Given the description of an element on the screen output the (x, y) to click on. 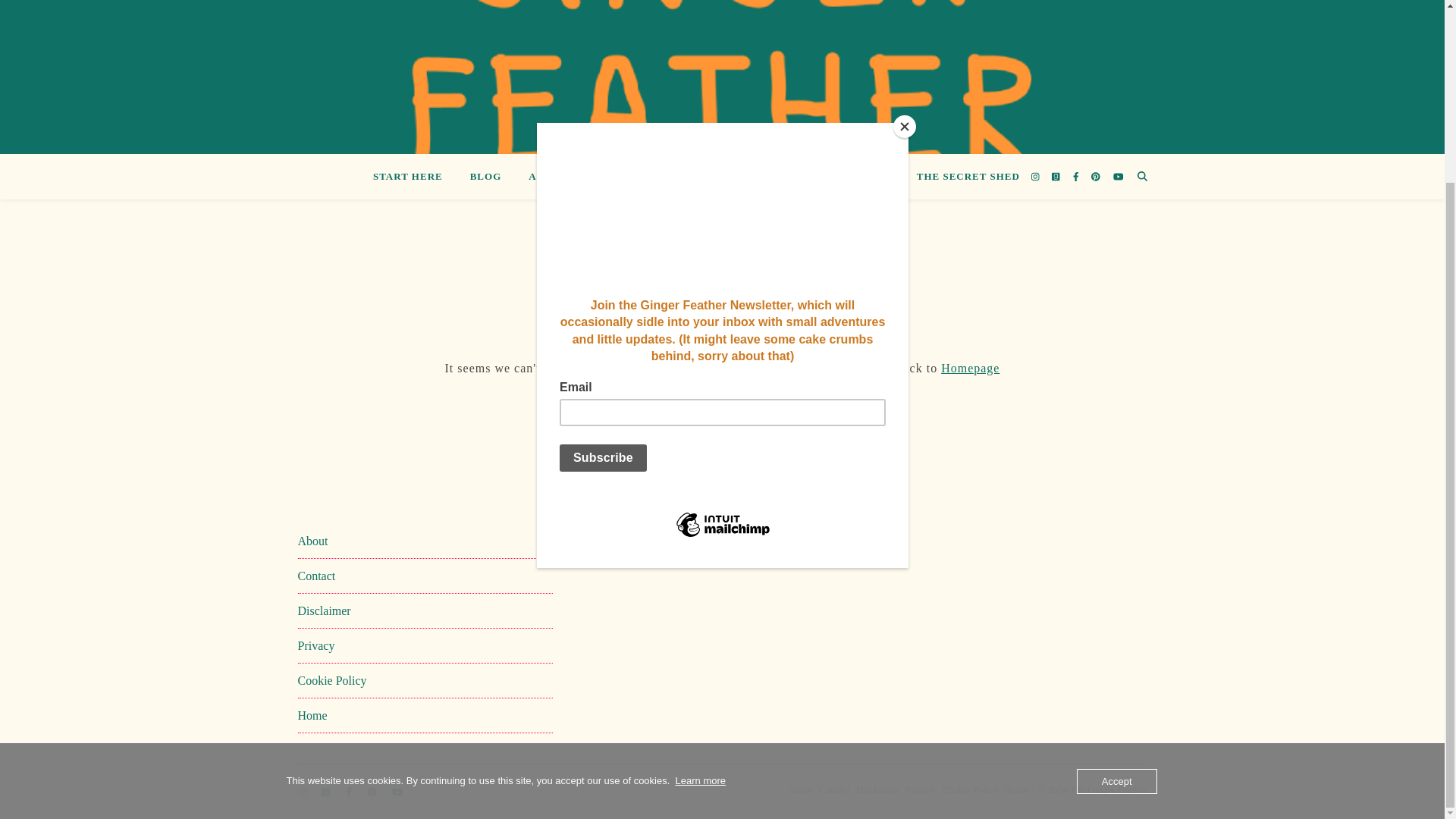
MISCELLANY (782, 176)
PLACES (691, 176)
WORDS (868, 176)
START HERE (413, 176)
HOME (616, 176)
THE SECRET SHED (962, 176)
BLOG (485, 176)
ABOUT (547, 176)
